Given the description of an element on the screen output the (x, y) to click on. 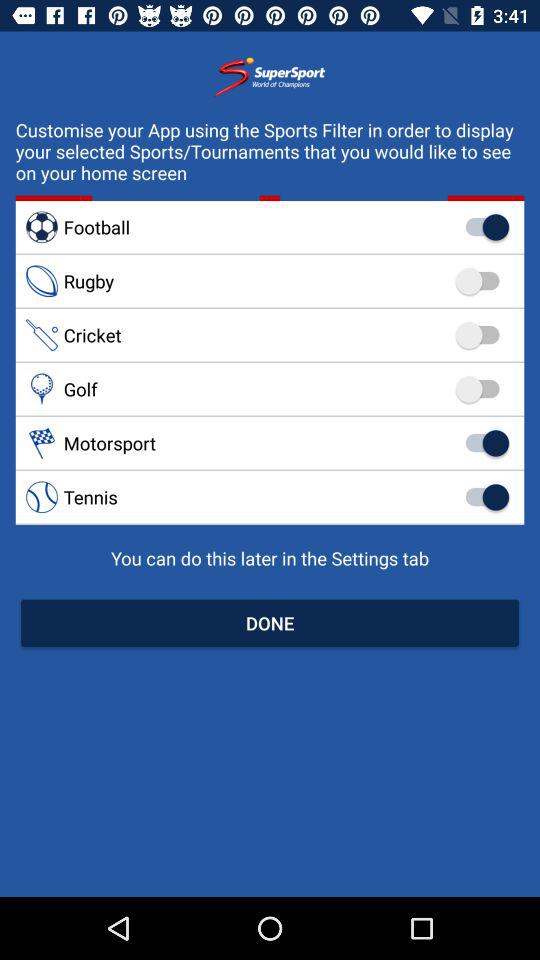
press the football icon (269, 226)
